Given the description of an element on the screen output the (x, y) to click on. 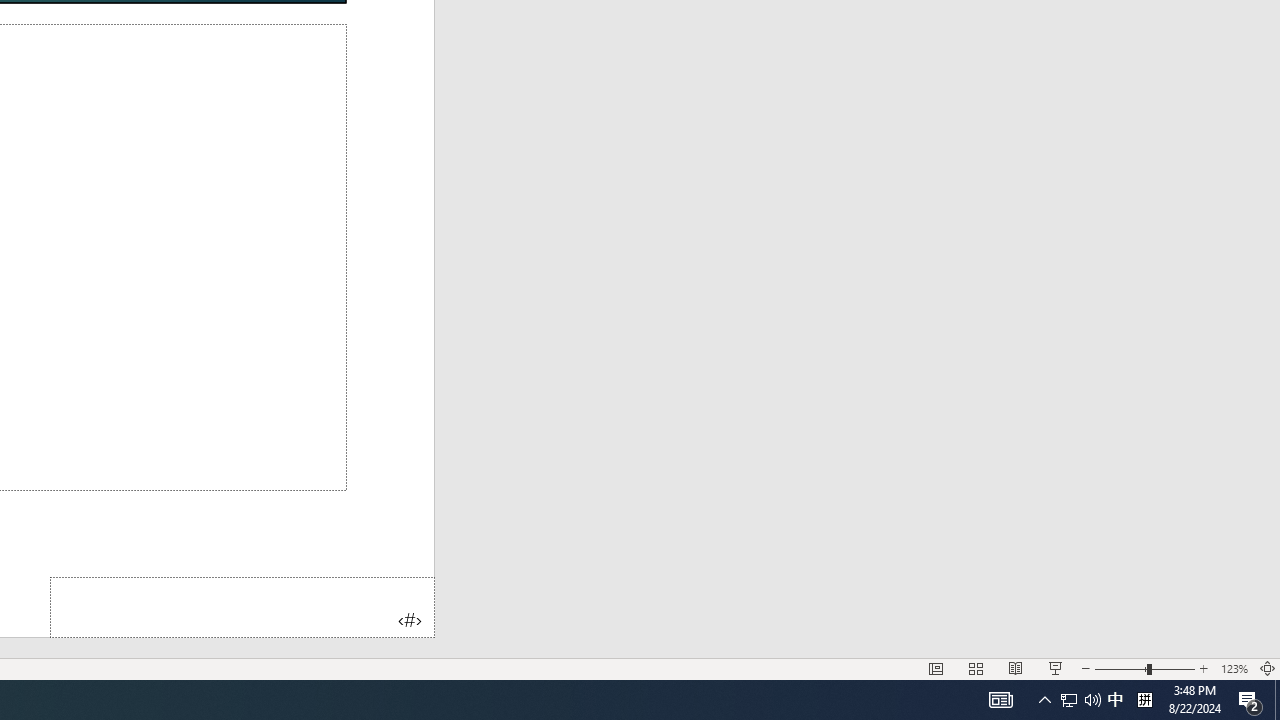
Page Number (242, 606)
Zoom 123% (1234, 668)
